Given the description of an element on the screen output the (x, y) to click on. 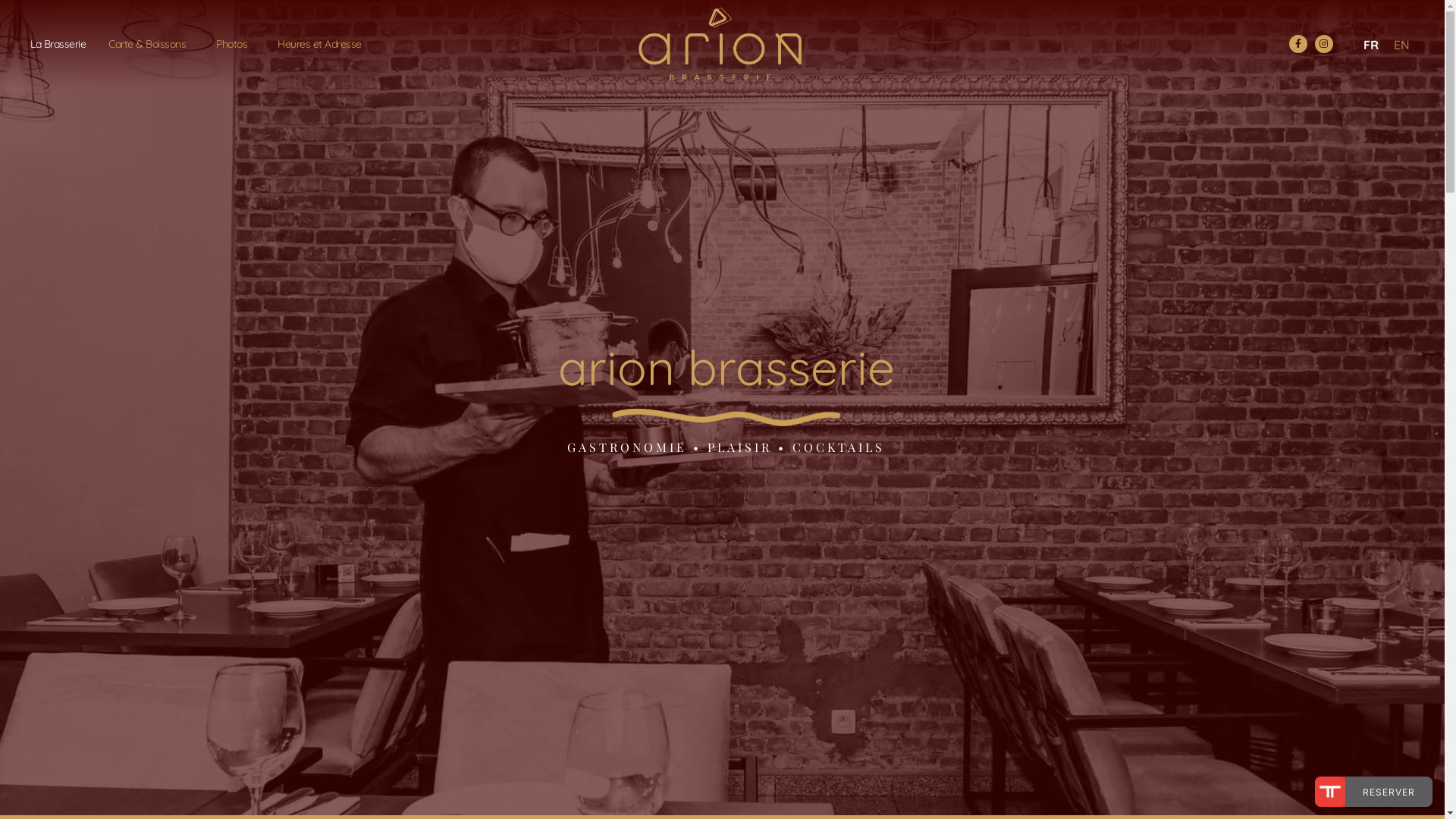
EN Element type: text (1397, 43)
Carte & Boissons Element type: text (150, 43)
La Brasserie Element type: text (57, 43)
Photos Element type: text (235, 43)
FR Element type: text (1366, 43)
Heures et Adresse Element type: text (319, 43)
